Given the description of an element on the screen output the (x, y) to click on. 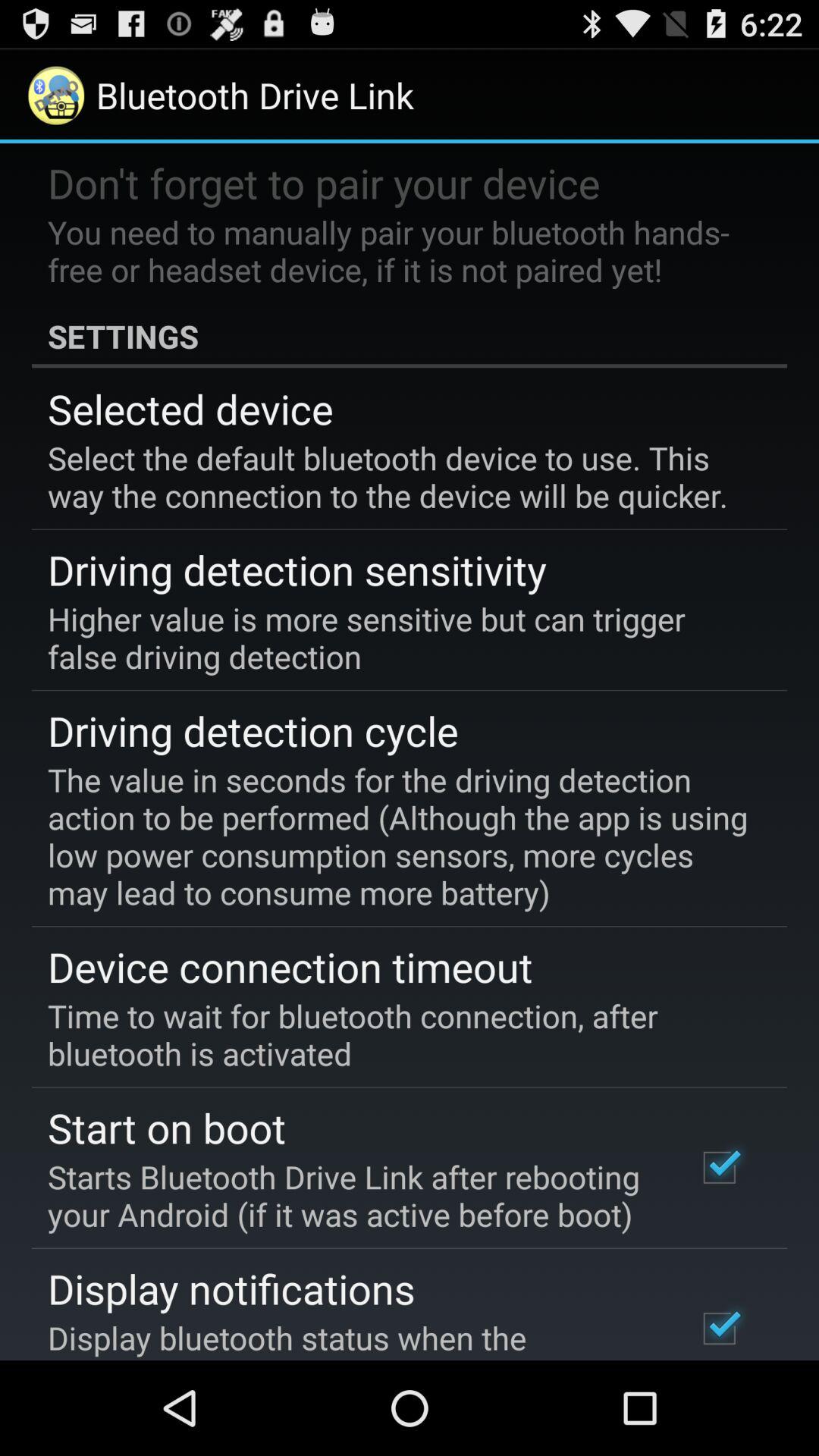
press the icon below the driving detection cycle icon (399, 835)
